Given the description of an element on the screen output the (x, y) to click on. 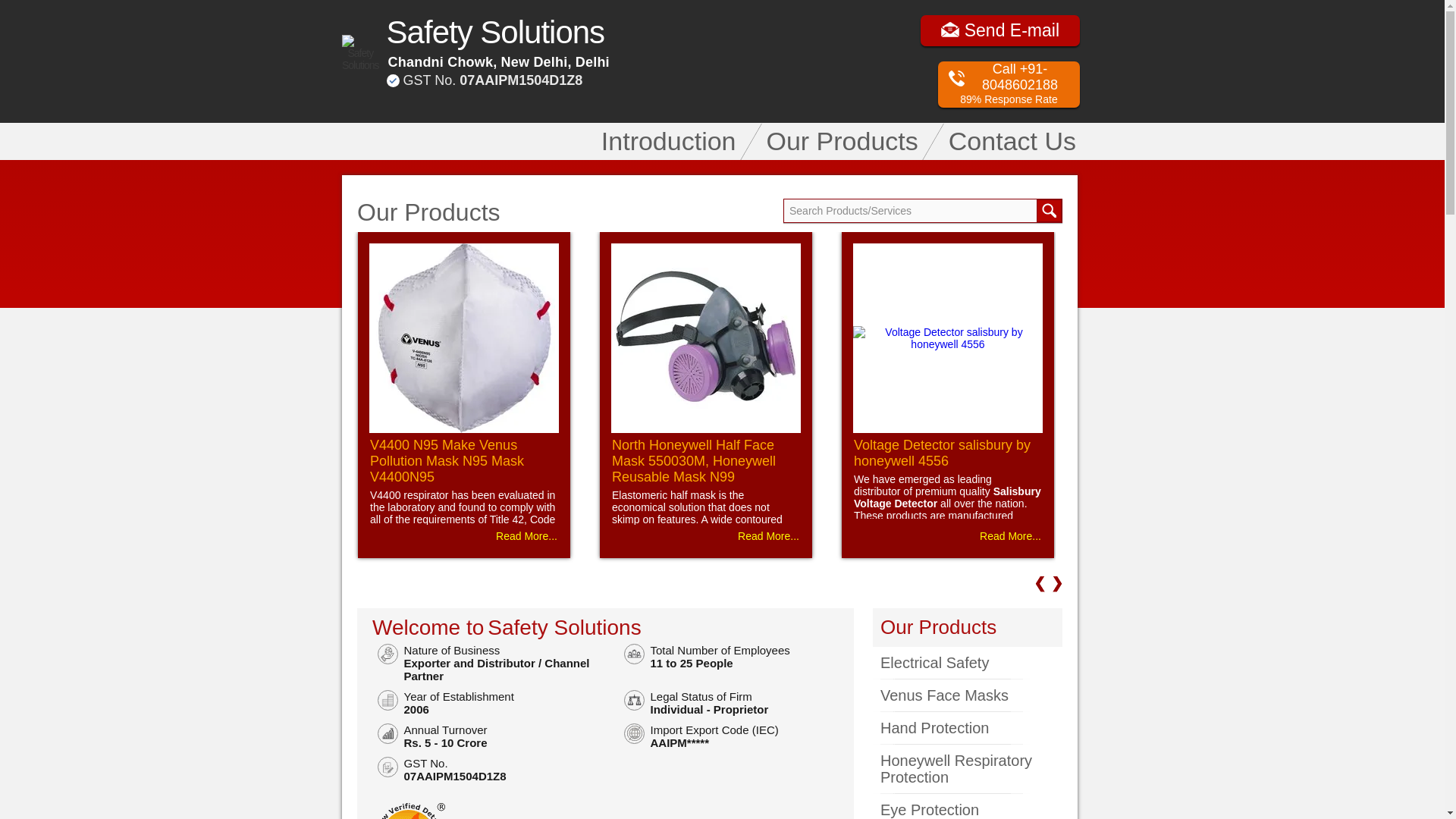
Hand Protection (967, 727)
Contact Us (1012, 140)
Our Products (841, 140)
Electrical Safety (967, 663)
Voltage Detector salisbury by honeywell 4556 (941, 452)
Venus Face Masks (967, 695)
Introduction (667, 140)
Eye Protection (967, 806)
Our Products (937, 626)
V4400 N95 Make Venus Pollution Mask N95 Mask V4400N95 (446, 460)
Honeywell Respiratory Protection (967, 768)
